Given the description of an element on the screen output the (x, y) to click on. 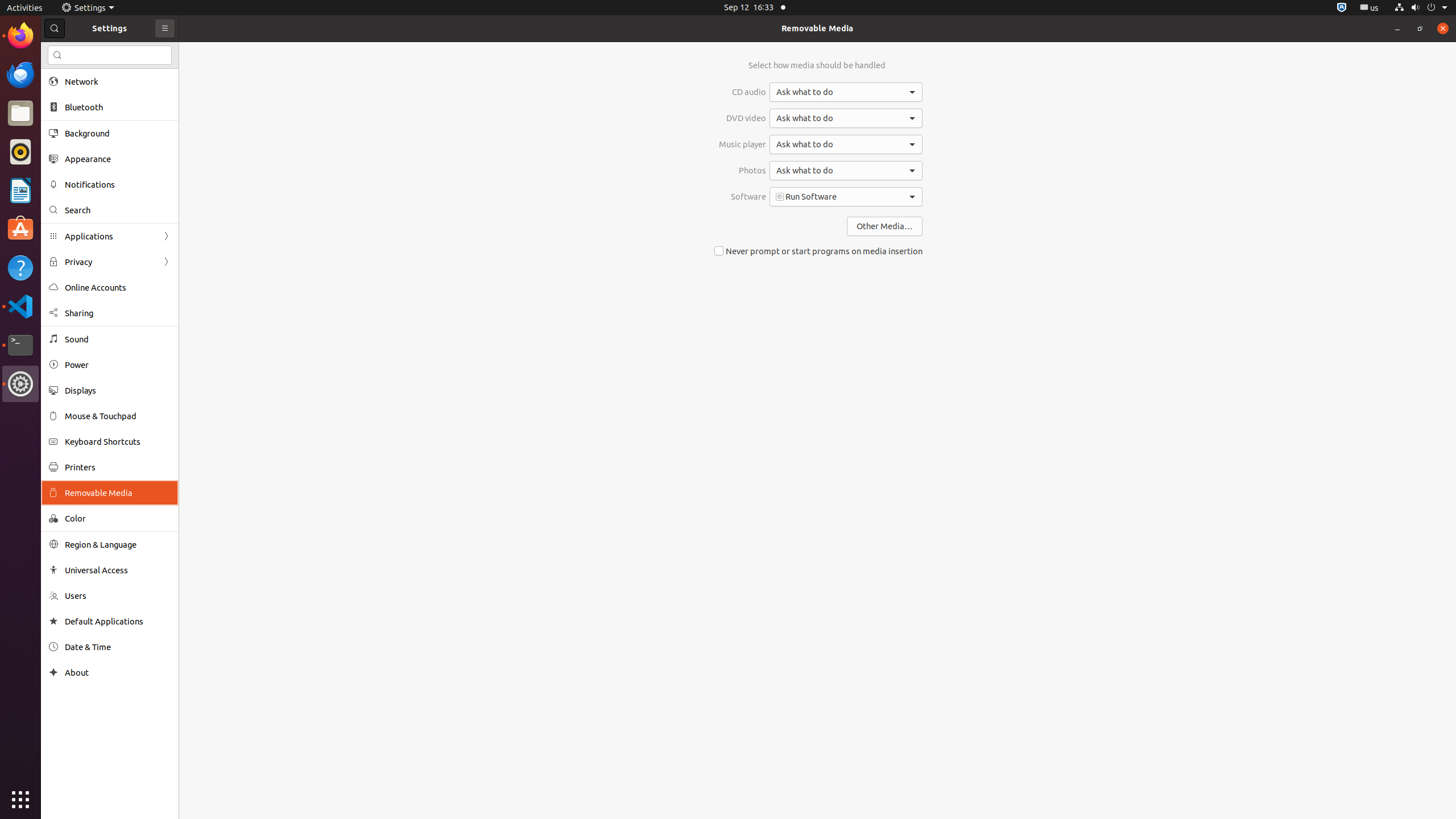
Sound Element type: label (117, 339)
Software Element type: label (742, 196)
